Given the description of an element on the screen output the (x, y) to click on. 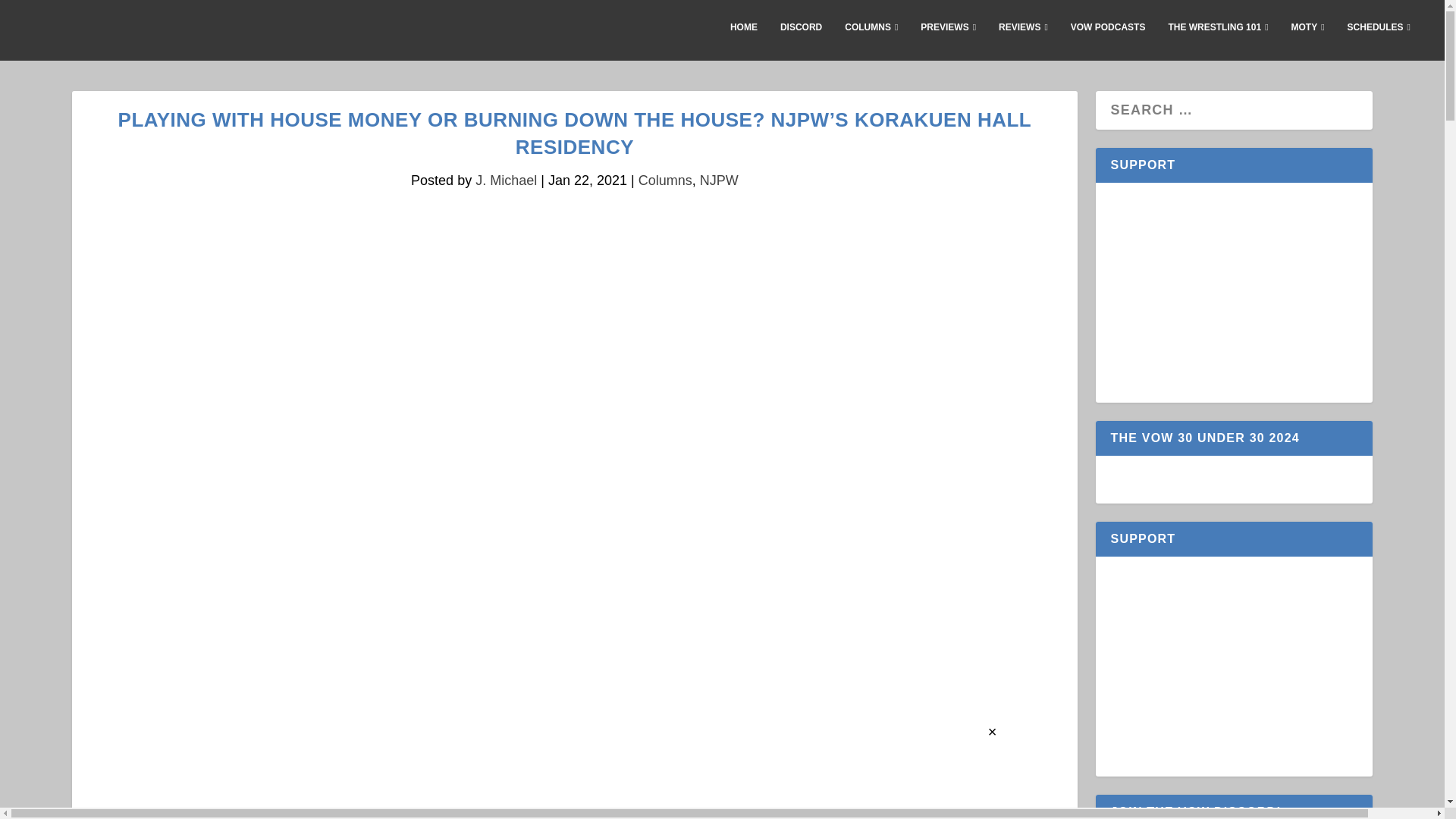
PREVIEWS (947, 39)
THE WRESTLING 101 (1217, 39)
COLUMNS (871, 39)
Posts by J. Michael (506, 180)
DISCORD (801, 39)
VOW PODCASTS (1107, 39)
REVIEWS (1023, 39)
